Given the description of an element on the screen output the (x, y) to click on. 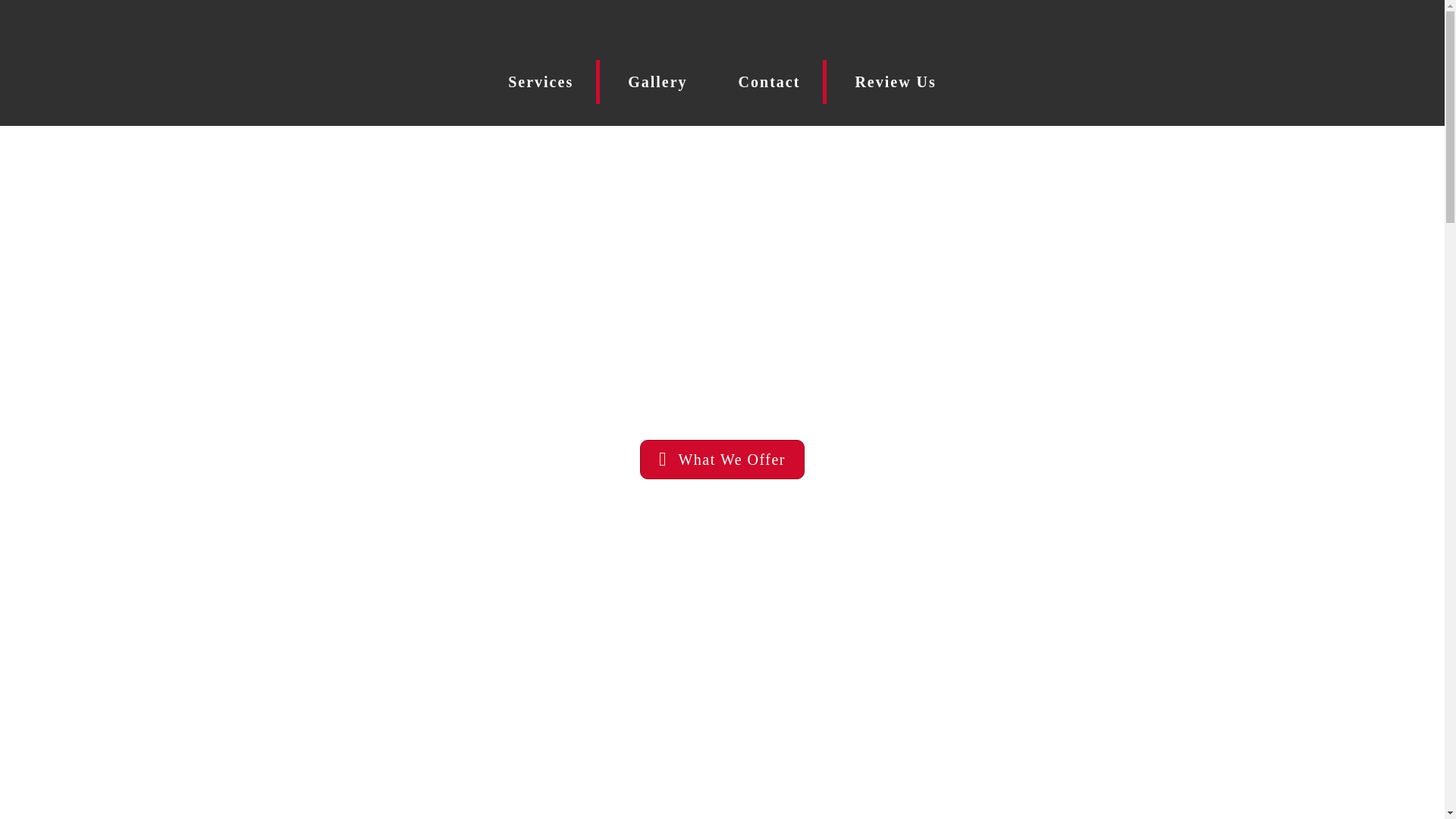
Contact (771, 81)
Gallery (657, 81)
Review Us (894, 81)
Services (541, 81)
What We Offer (722, 459)
